Given the description of an element on the screen output the (x, y) to click on. 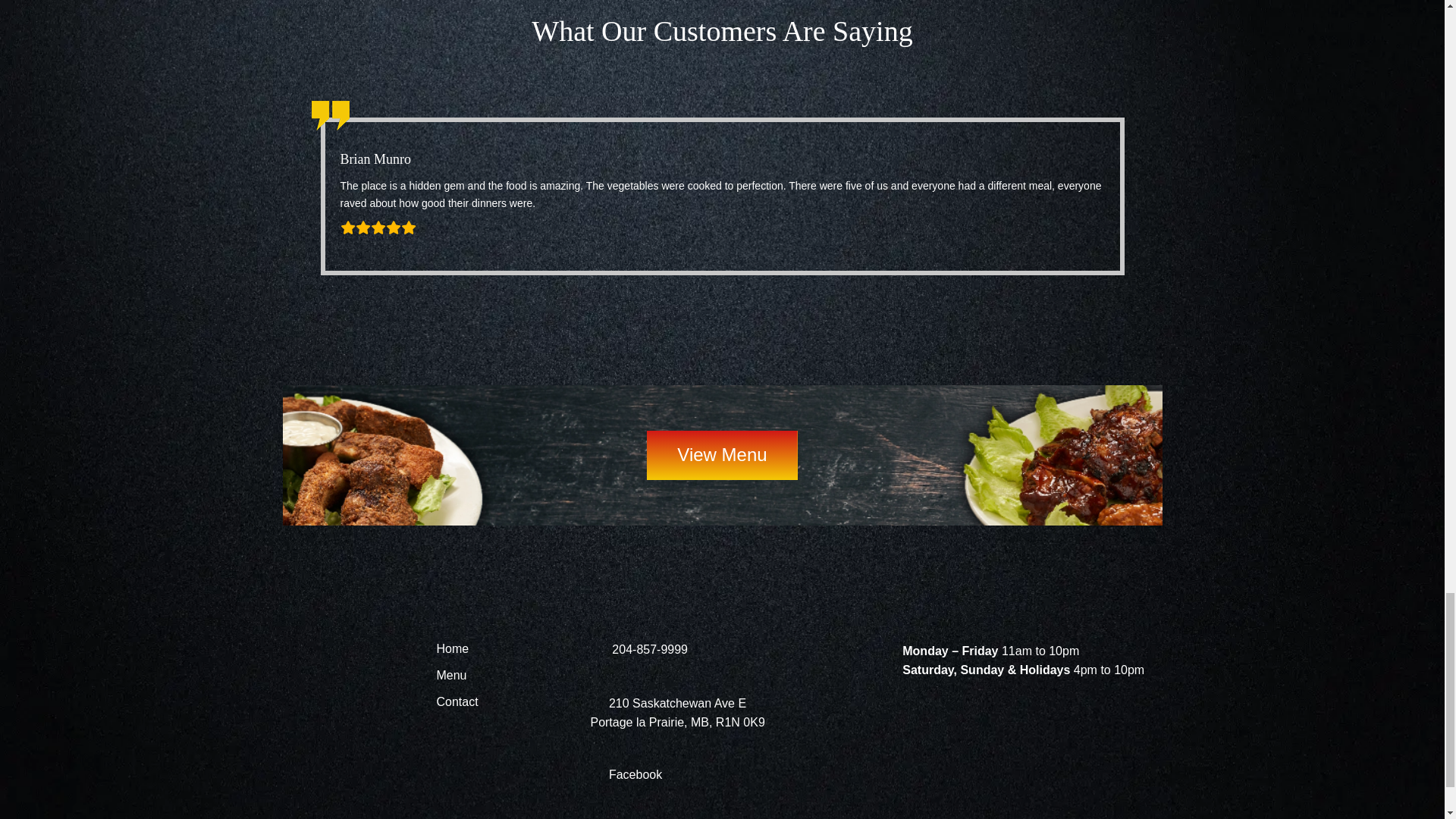
Facebook (625, 774)
  204-857-9999 (638, 649)
Home (451, 651)
Menu (450, 678)
View Menu (721, 454)
Contact (456, 704)
